Given the description of an element on the screen output the (x, y) to click on. 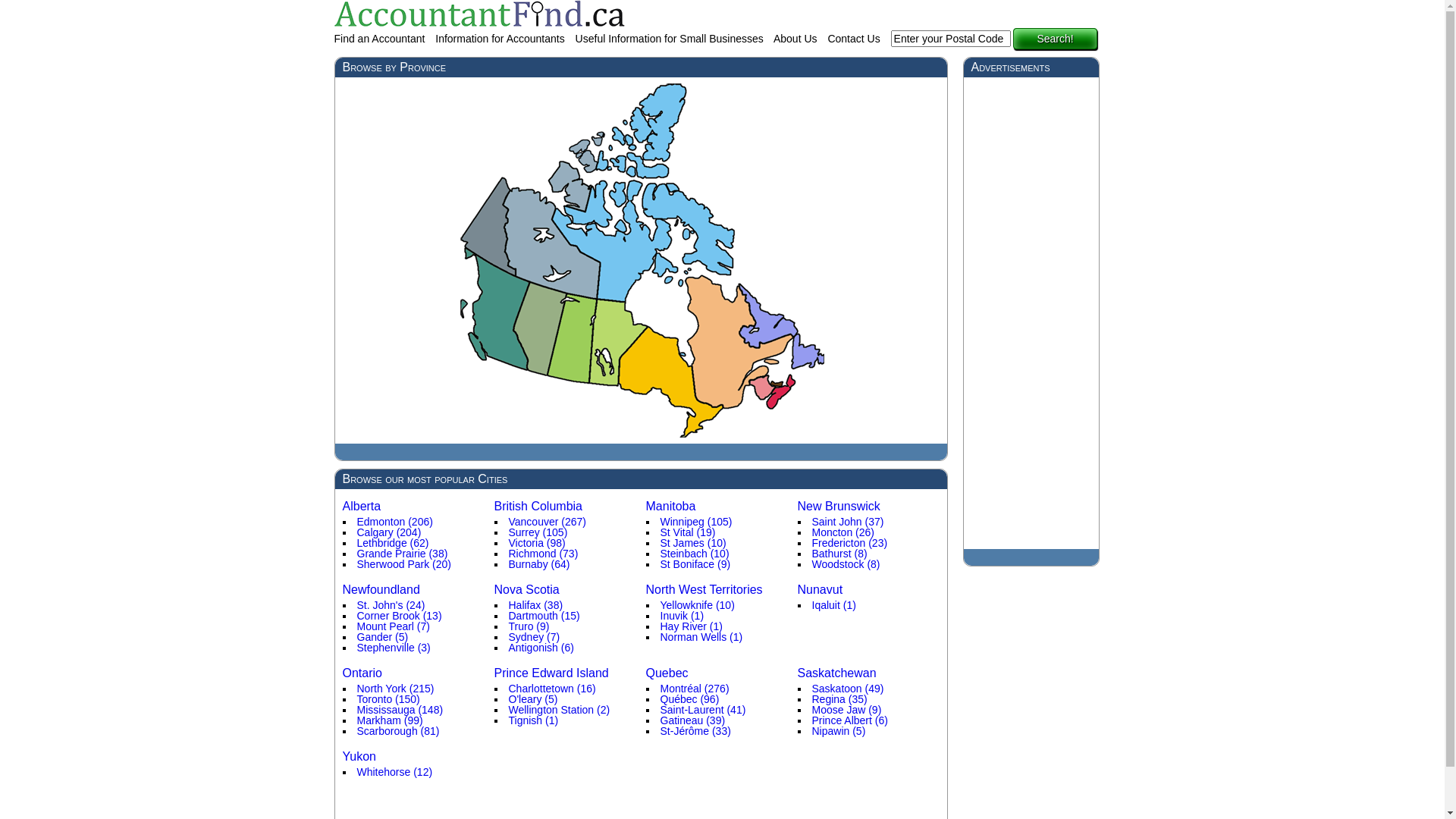
Scarborough (81) Element type: text (397, 732)
St James (10) Element type: text (692, 544)
Bathurst (8) Element type: text (838, 554)
British Columbia Element type: text (538, 507)
Manitoba Element type: text (671, 507)
Lethbridge (62) Element type: text (392, 544)
Search! Element type: text (1054, 38)
Saskatoon (49) Element type: text (847, 689)
Alberta Element type: text (361, 507)
Victoria (98) Element type: text (536, 544)
Markham (99) Element type: text (389, 721)
Iqaluit (1) Element type: text (833, 606)
North York (215) Element type: text (394, 689)
Woodstock (8) Element type: text (845, 565)
St Vital (19) Element type: text (687, 533)
Prince Albert (6) Element type: text (849, 721)
Inuvik (1) Element type: text (681, 616)
Stephenville (3) Element type: text (392, 648)
Dartmouth (15) Element type: text (543, 616)
Contact Us Element type: text (855, 39)
Mississauga (148) Element type: text (399, 710)
Nipawin (5) Element type: text (838, 732)
Whitehorse (12) Element type: text (394, 773)
St. John's (24) Element type: text (390, 606)
St Boniface (9) Element type: text (694, 565)
Saint John (37) Element type: text (847, 522)
Corner Brook (13) Element type: text (398, 616)
Toronto (150) Element type: text (387, 700)
Moncton (26) Element type: text (842, 533)
Saskatchewan Element type: text (836, 674)
Advertisement Element type: hover (1031, 311)
Richmond (73) Element type: text (542, 554)
New Brunswick Element type: text (838, 507)
Moose Jaw (9) Element type: text (846, 710)
Gatineau (39) Element type: text (691, 721)
Burnaby (64) Element type: text (538, 565)
AccountantFind.ca Logo Element type: hover (478, 13)
Gander (5) Element type: text (381, 638)
Map of Canada Element type: hover (640, 259)
Yellowknife (10) Element type: text (696, 606)
Vancouver (267) Element type: text (546, 522)
Ontario Element type: text (362, 674)
Antigonish (6) Element type: text (540, 648)
Useful Information for Small Businesses Element type: text (671, 39)
Yukon Element type: text (359, 757)
O'leary (5) Element type: text (532, 700)
Nova Scotia Element type: text (526, 591)
Tignish (1) Element type: text (533, 721)
Nunavut Element type: text (820, 591)
Regina (35) Element type: text (838, 700)
Newfoundland Element type: text (381, 591)
About Us Element type: text (797, 39)
Information for Accountants Element type: text (501, 39)
Truro (9) Element type: text (528, 627)
Sydney (7) Element type: text (533, 638)
Winnipeg (105) Element type: text (695, 522)
Saint-Laurent (41) Element type: text (702, 710)
Hay River (1) Element type: text (690, 627)
Wellington Station (2) Element type: text (558, 710)
Mount Pearl (7) Element type: text (392, 627)
Sherwood Park (20) Element type: text (403, 565)
Grande Prairie (38) Element type: text (401, 554)
Charlottetown (16) Element type: text (551, 689)
Steinbach (10) Element type: text (693, 554)
Halifax (38) Element type: text (535, 606)
Calgary (204) Element type: text (388, 533)
Find an Accountant Element type: text (380, 39)
North West Territories Element type: text (704, 591)
Surrey (105) Element type: text (537, 533)
Norman Wells (1) Element type: text (700, 638)
Prince Edward Island Element type: text (551, 674)
Fredericton (23) Element type: text (849, 544)
Quebec Element type: text (667, 674)
Edmonton (206) Element type: text (394, 522)
